Given the description of an element on the screen output the (x, y) to click on. 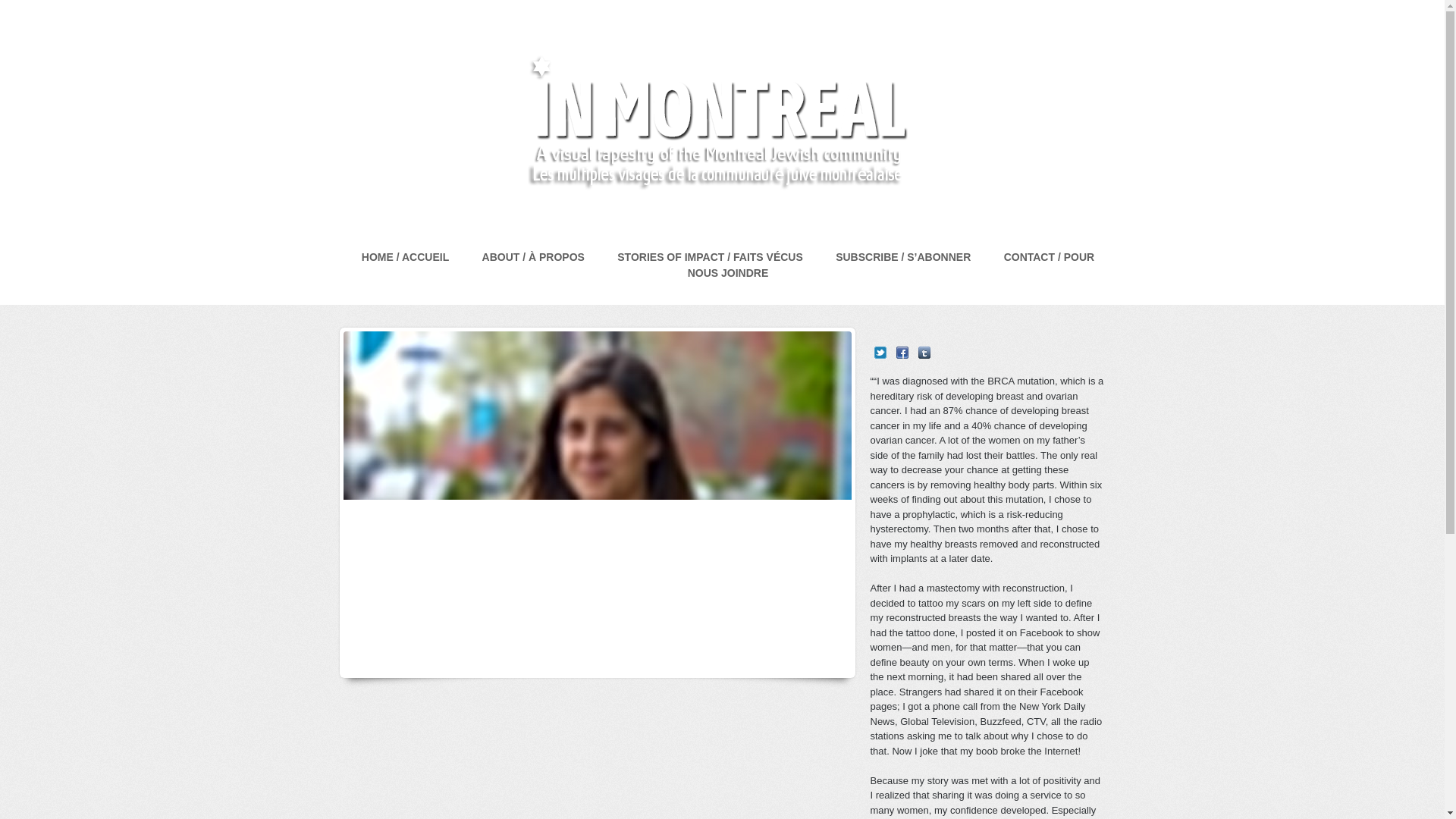
Share on Tumblr (924, 352)
In Montreal (713, 223)
In Montreal (713, 124)
